Given the description of an element on the screen output the (x, y) to click on. 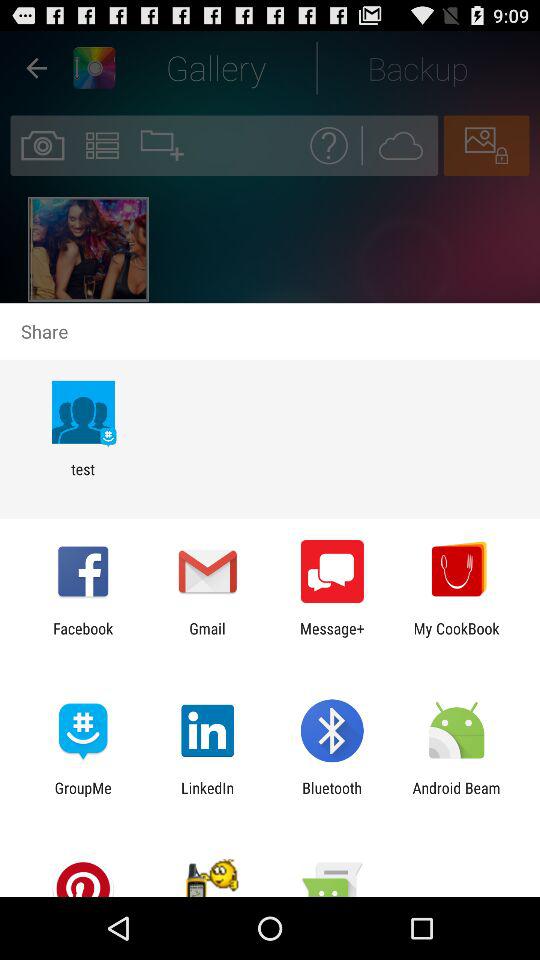
select icon next to the message+ (207, 637)
